Given the description of an element on the screen output the (x, y) to click on. 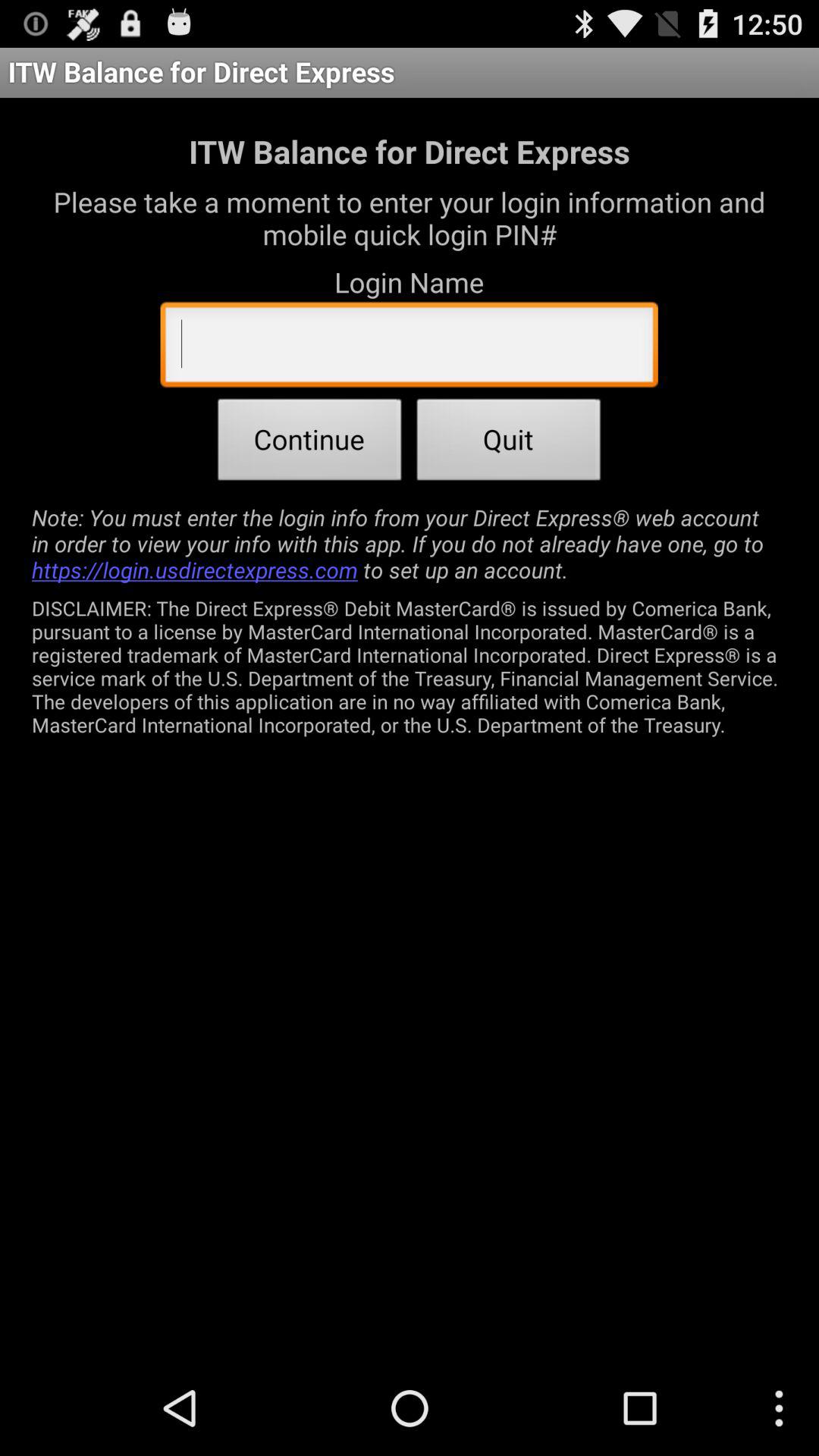
flip to note you must item (409, 543)
